Given the description of an element on the screen output the (x, y) to click on. 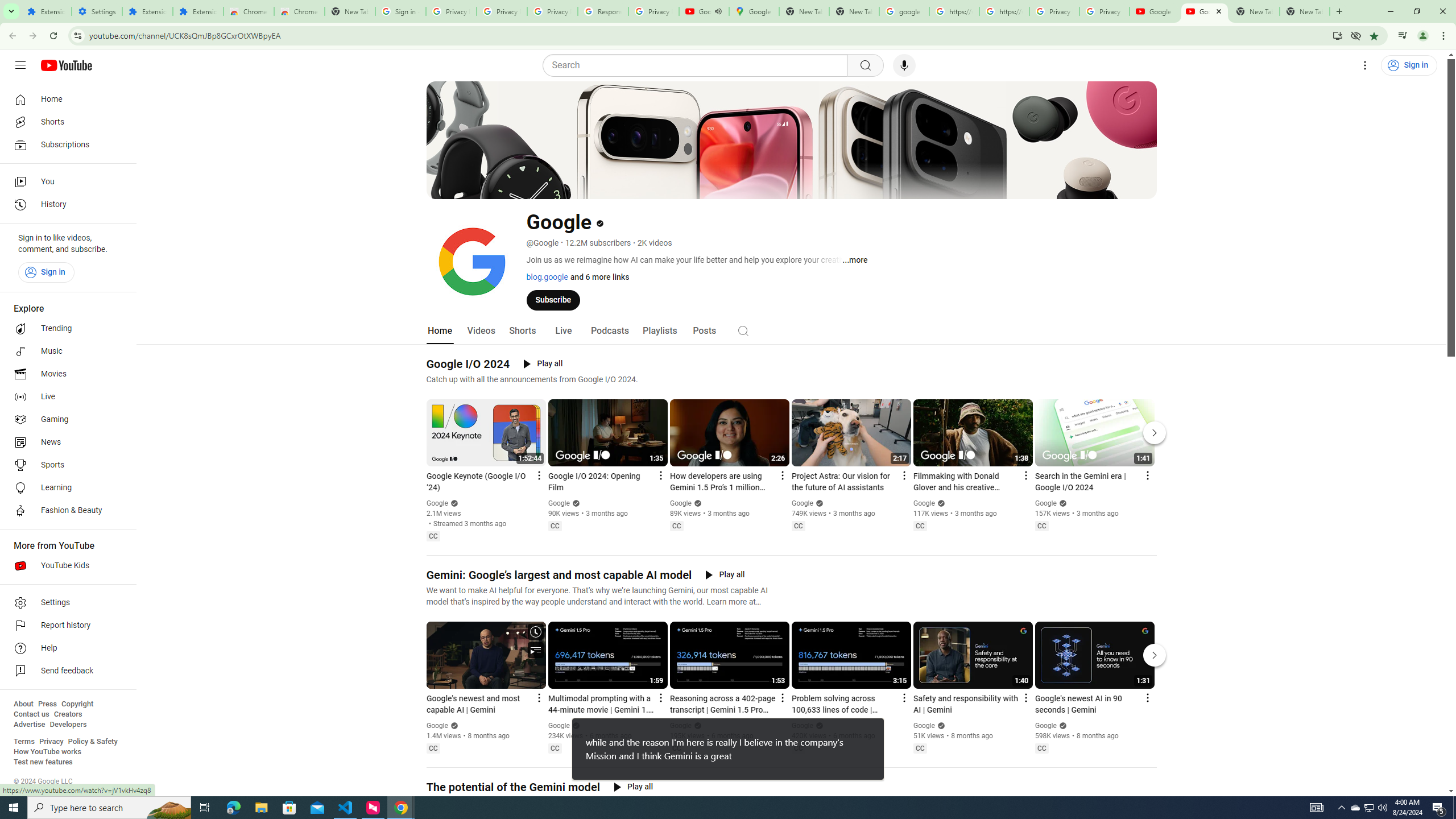
Live (562, 330)
Extensions (146, 11)
https://scholar.google.com/ (954, 11)
Chrome Web Store (248, 11)
Send feedback (64, 671)
YouTube Kids (64, 565)
